Given the description of an element on the screen output the (x, y) to click on. 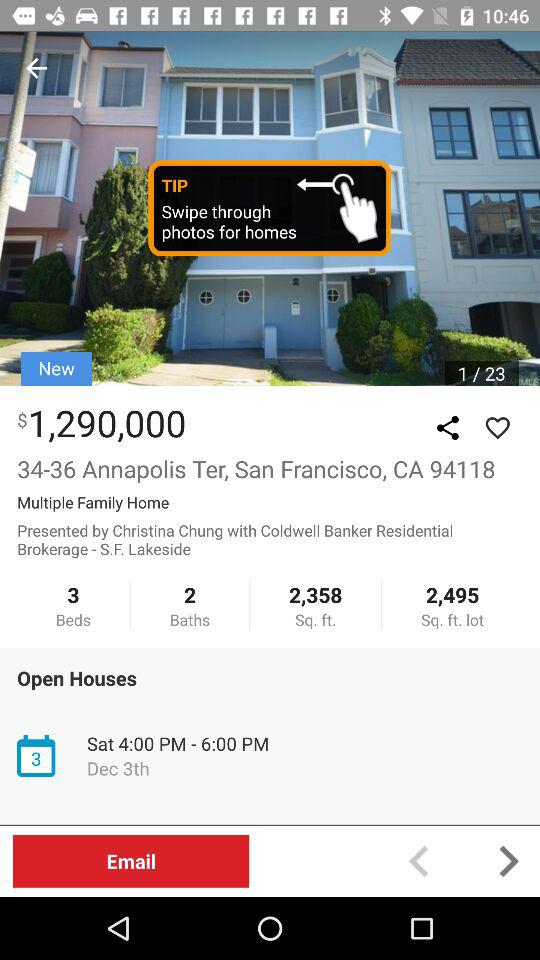
favorite option (497, 428)
